Given the description of an element on the screen output the (x, y) to click on. 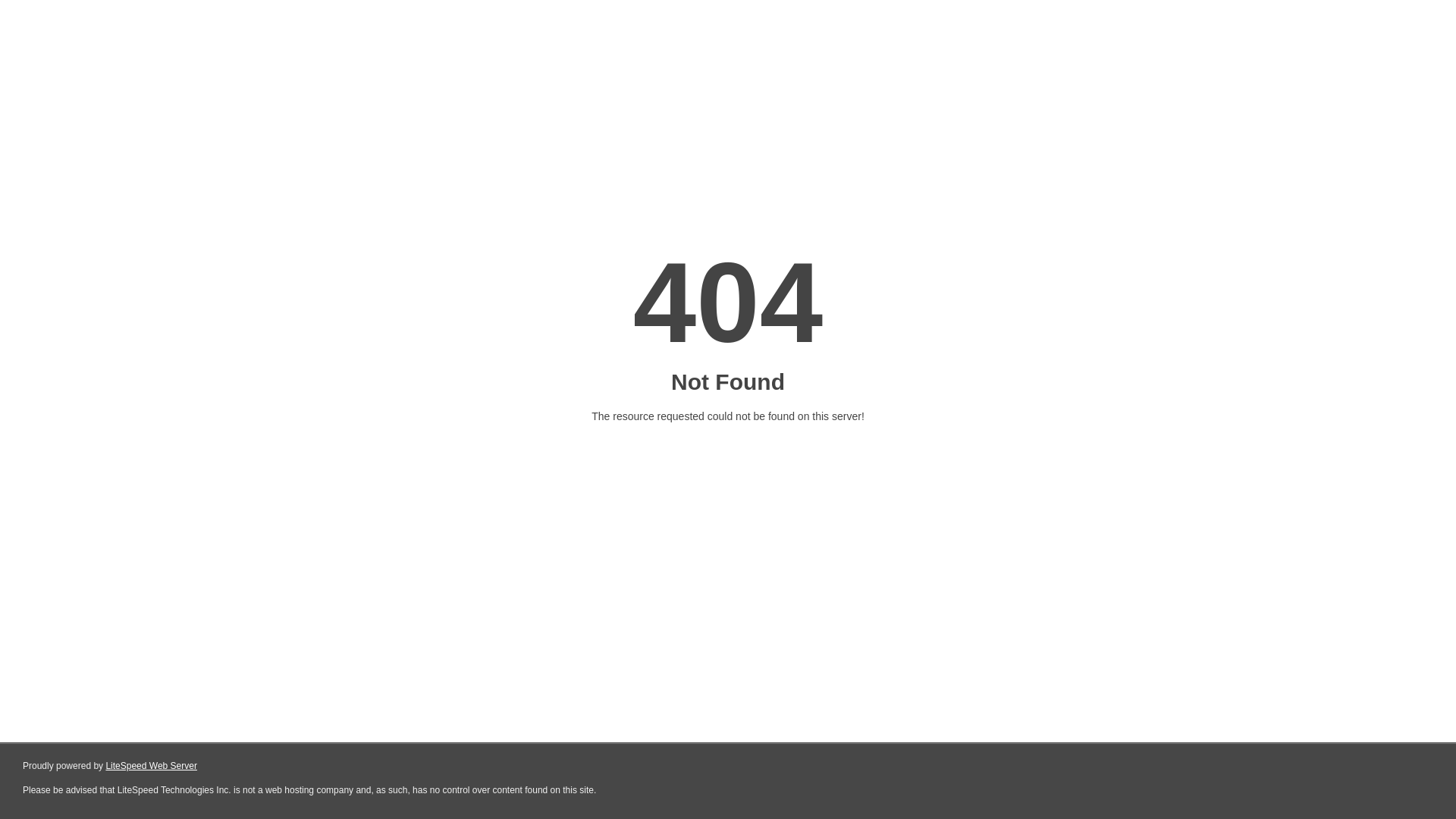
LiteSpeed Web Server Element type: text (151, 765)
